Given the description of an element on the screen output the (x, y) to click on. 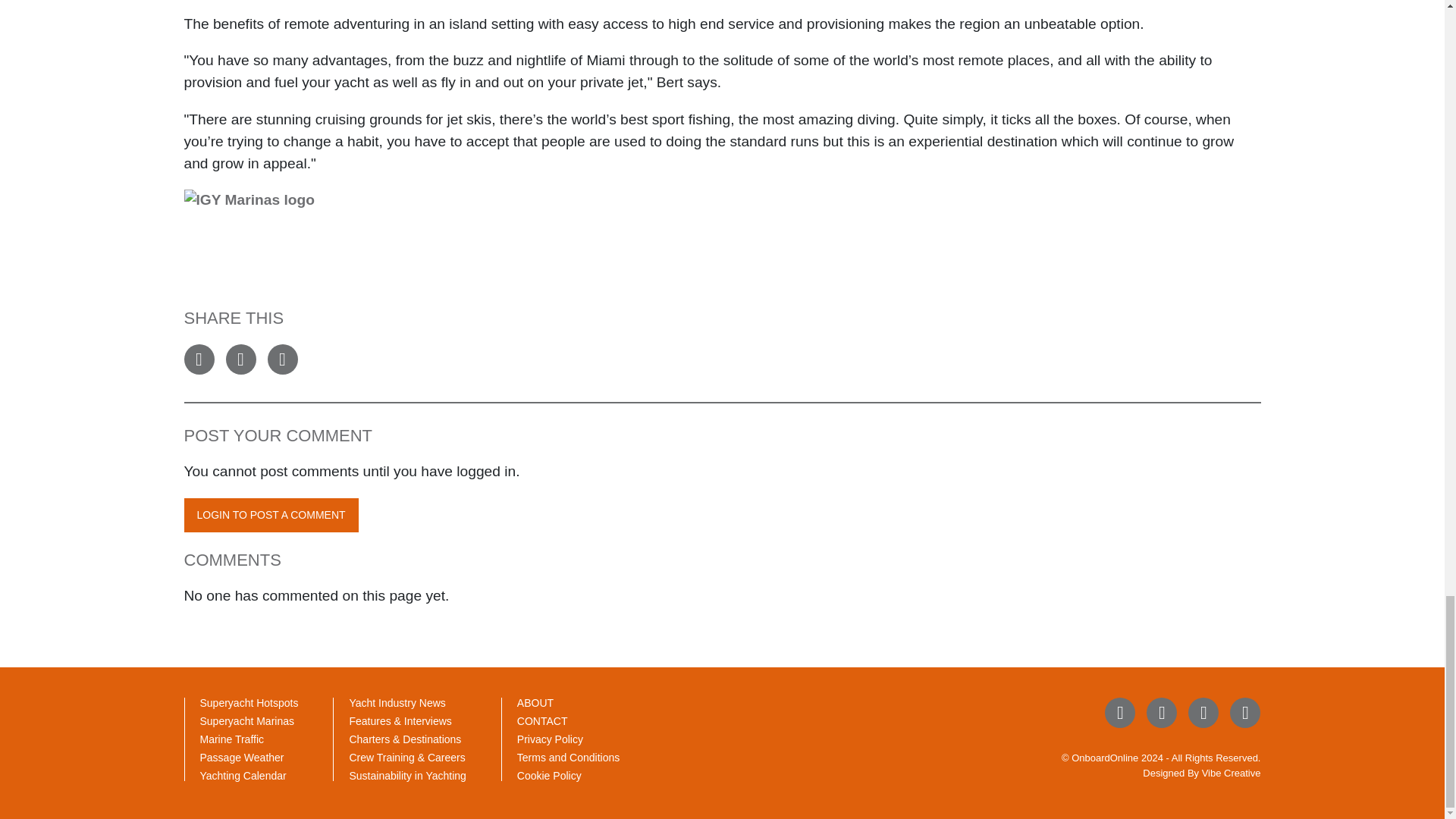
Superyacht Marinas (247, 720)
Passage Weather (241, 757)
Superyacht Hotspots (249, 702)
Superyacht Marinas (247, 720)
Marine Traffic (232, 739)
Superyacht Hotspots (249, 702)
Login to post a comment (270, 514)
IGY Marinas logo (721, 222)
Share on LinkedIn (281, 358)
IGY Marinas logo (266, 222)
